Given the description of an element on the screen output the (x, y) to click on. 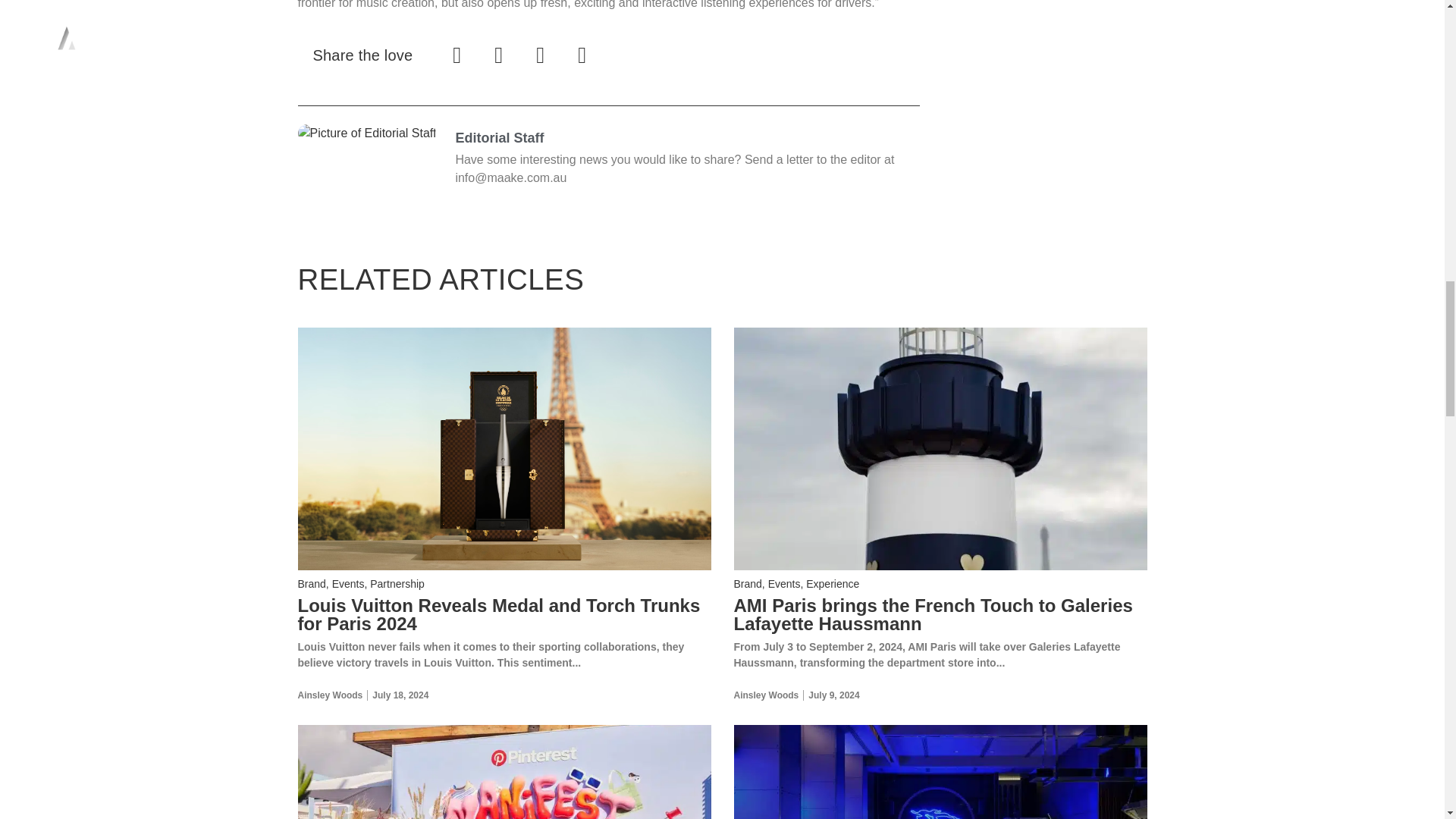
Brand (747, 584)
Experience (832, 584)
Louis Vuitton Reveals Medal and Torch Trunks for Paris 2024 (498, 614)
Brand (310, 584)
Ainsley Woods (766, 694)
Partnership (397, 584)
Events (784, 584)
Events (348, 584)
Ainsley Woods (329, 694)
